Given the description of an element on the screen output the (x, y) to click on. 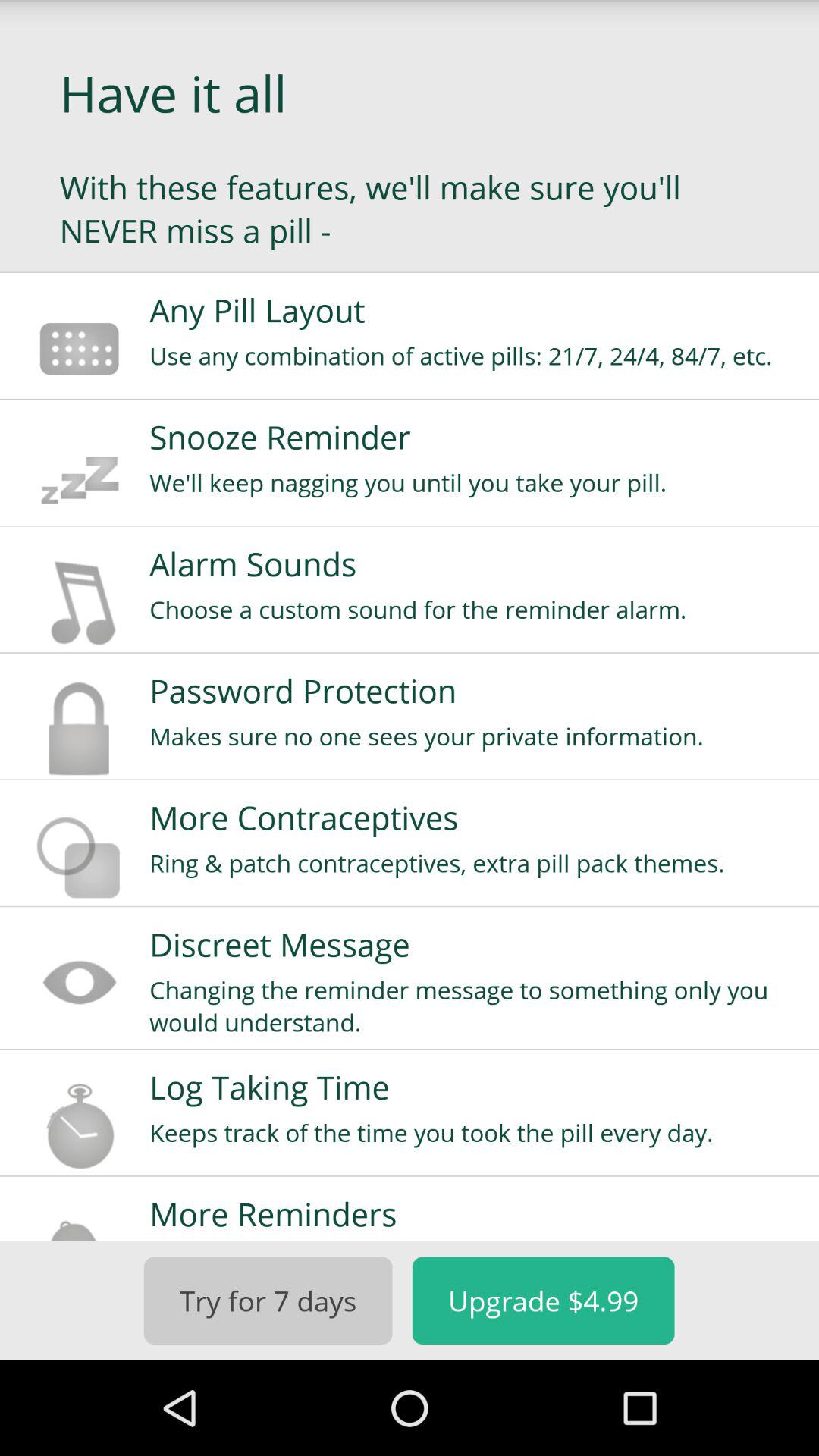
choose snooze reminder (474, 436)
